Given the description of an element on the screen output the (x, y) to click on. 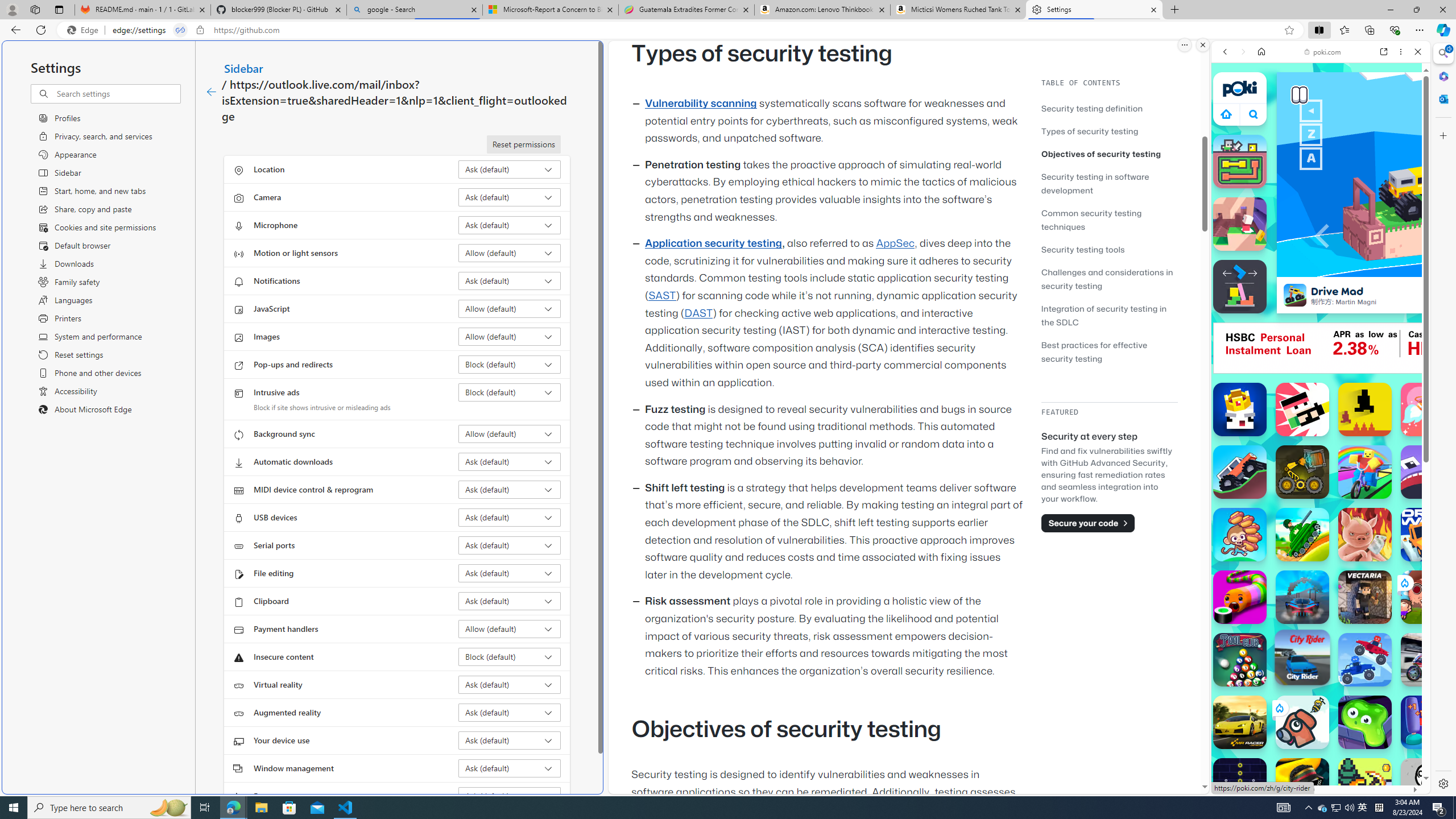
We Become What We Behold (1427, 784)
Show More Games for Girls (1390, 407)
Serial ports Ask (default) (509, 545)
Shooting Games (1320, 295)
Punch Legend Simulator (1427, 722)
Iron Snout Iron Snout (1364, 534)
BoxRob BoxRob (1302, 471)
